Given the description of an element on the screen output the (x, y) to click on. 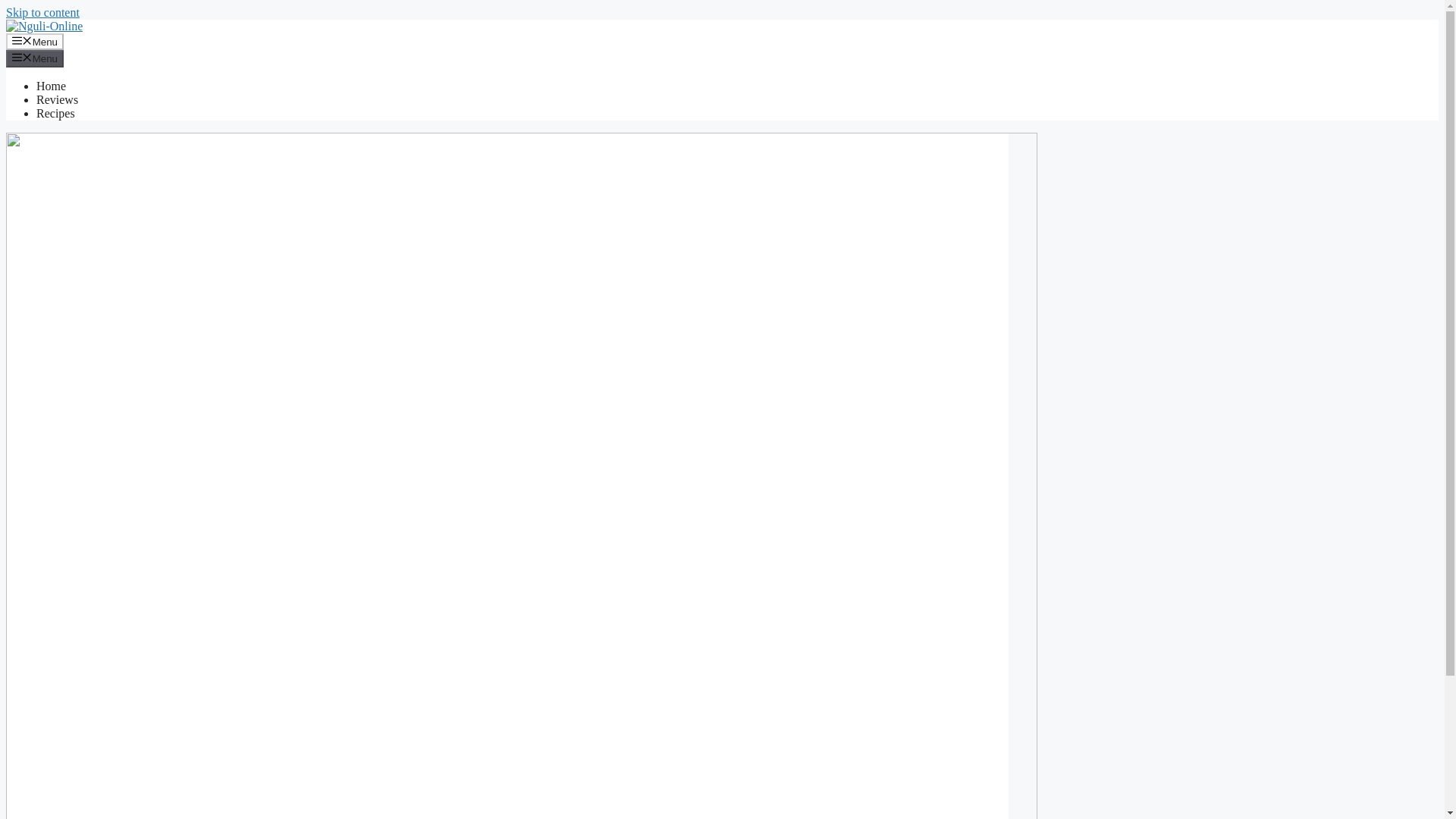
Home (50, 85)
Skip to content (42, 11)
Menu (34, 41)
Recipes (55, 113)
Menu (34, 57)
Reviews (57, 99)
Skip to content (42, 11)
